Given the description of an element on the screen output the (x, y) to click on. 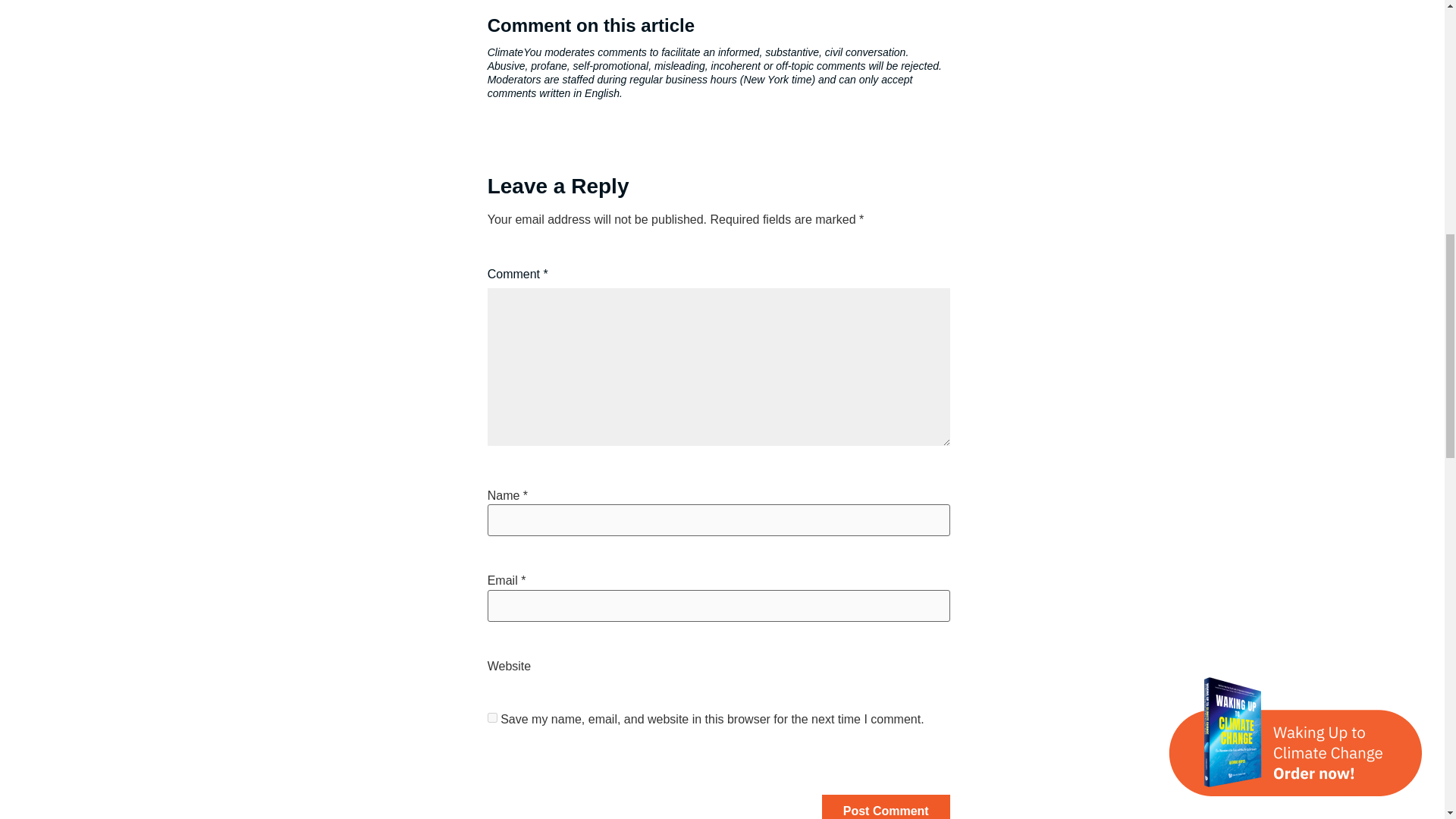
Post Comment (886, 806)
Post Comment (886, 806)
yes (492, 717)
